Given the description of an element on the screen output the (x, y) to click on. 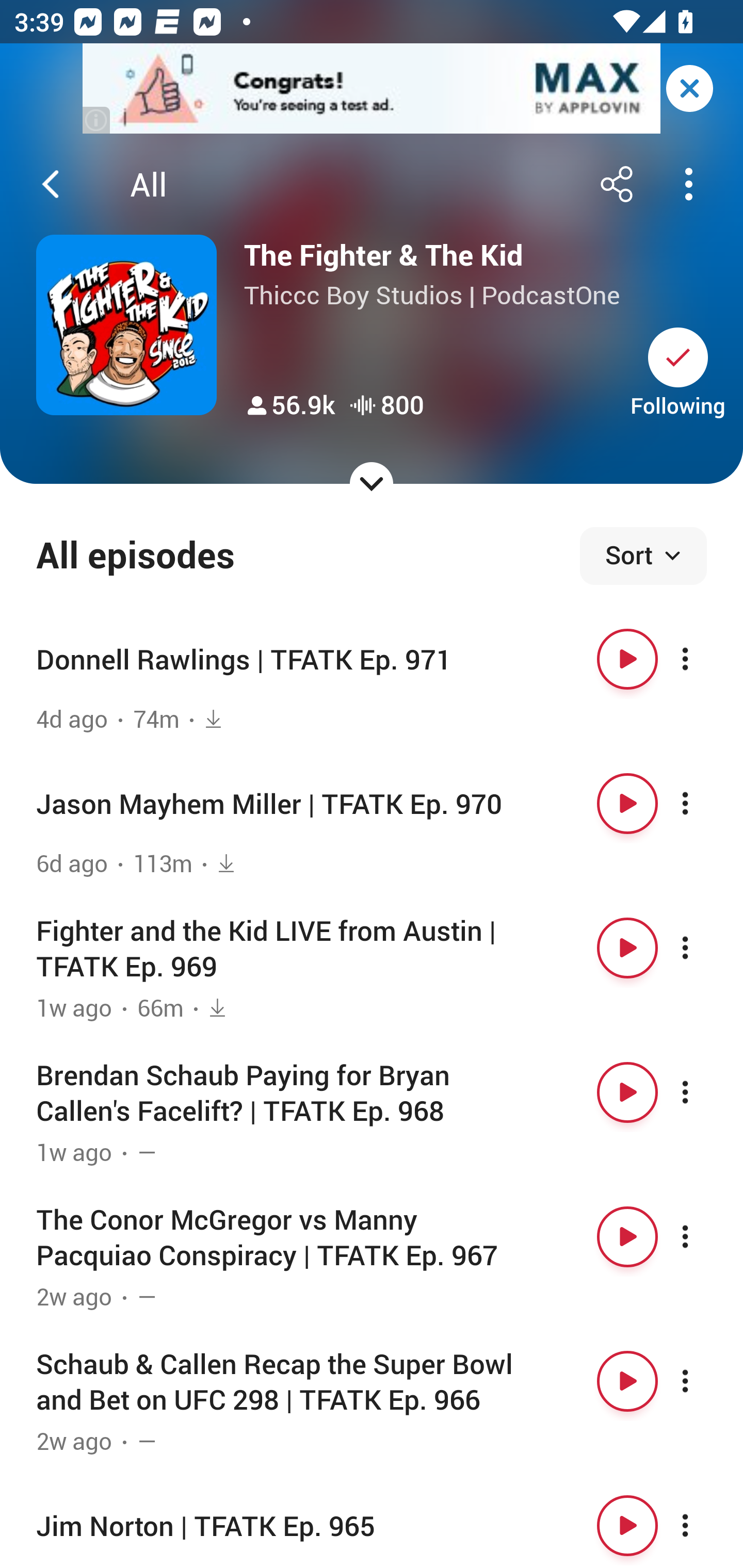
app-monetization (371, 88)
(i) (96, 119)
Back (50, 184)
Unsubscribe button (677, 357)
Sort episodes Sort (643, 555)
Play button (627, 659)
More options (703, 659)
Play button (627, 803)
More options (703, 803)
Play button (627, 947)
More options (703, 947)
Play button (627, 1092)
More options (703, 1092)
Play button (627, 1236)
More options (703, 1236)
Play button (627, 1381)
More options (703, 1381)
Play button (627, 1525)
More options (703, 1525)
